Given the description of an element on the screen output the (x, y) to click on. 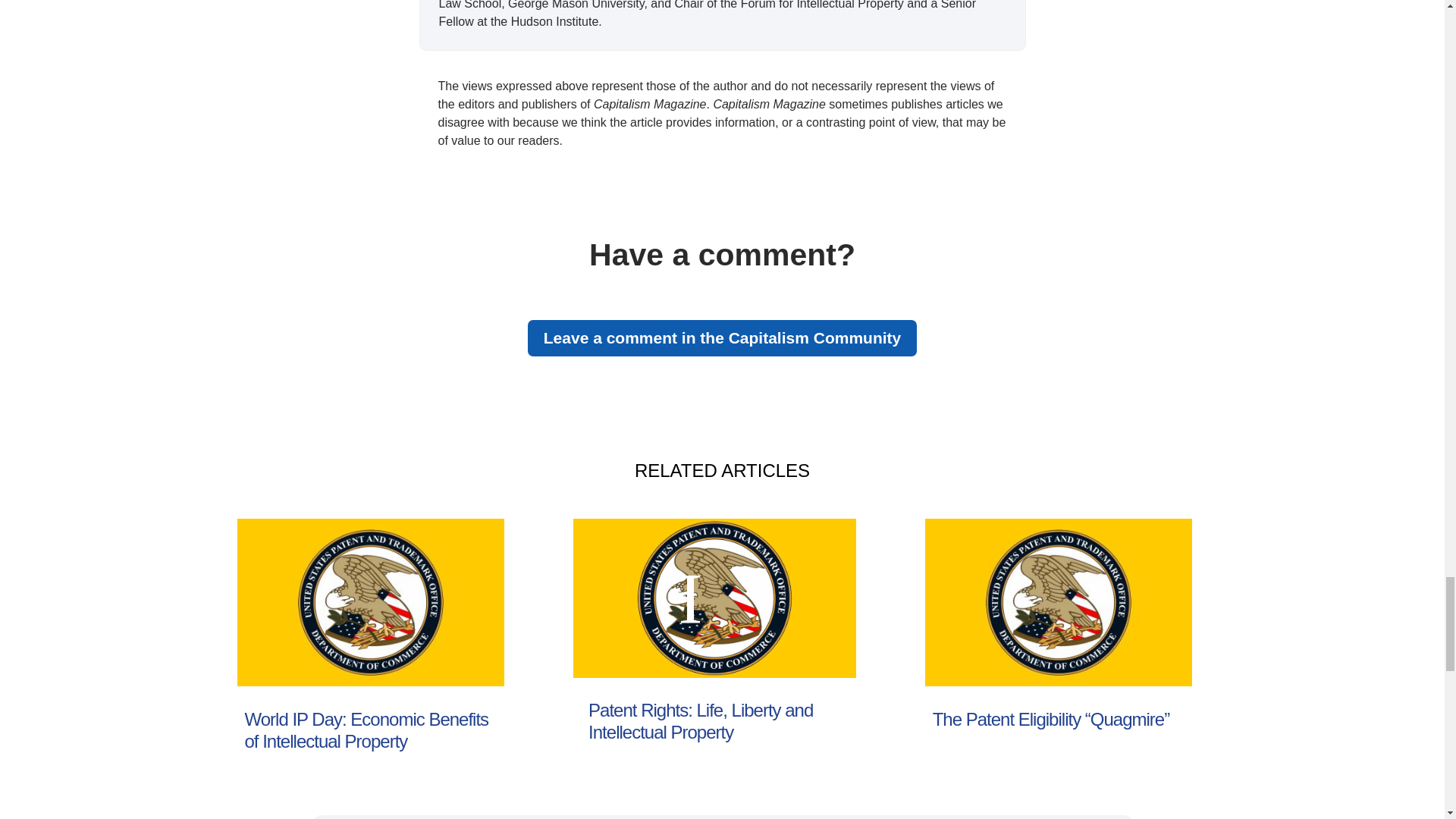
Life, Liberty and Intellectual Property by Adam Mossoff (714, 598)
